Given the description of an element on the screen output the (x, y) to click on. 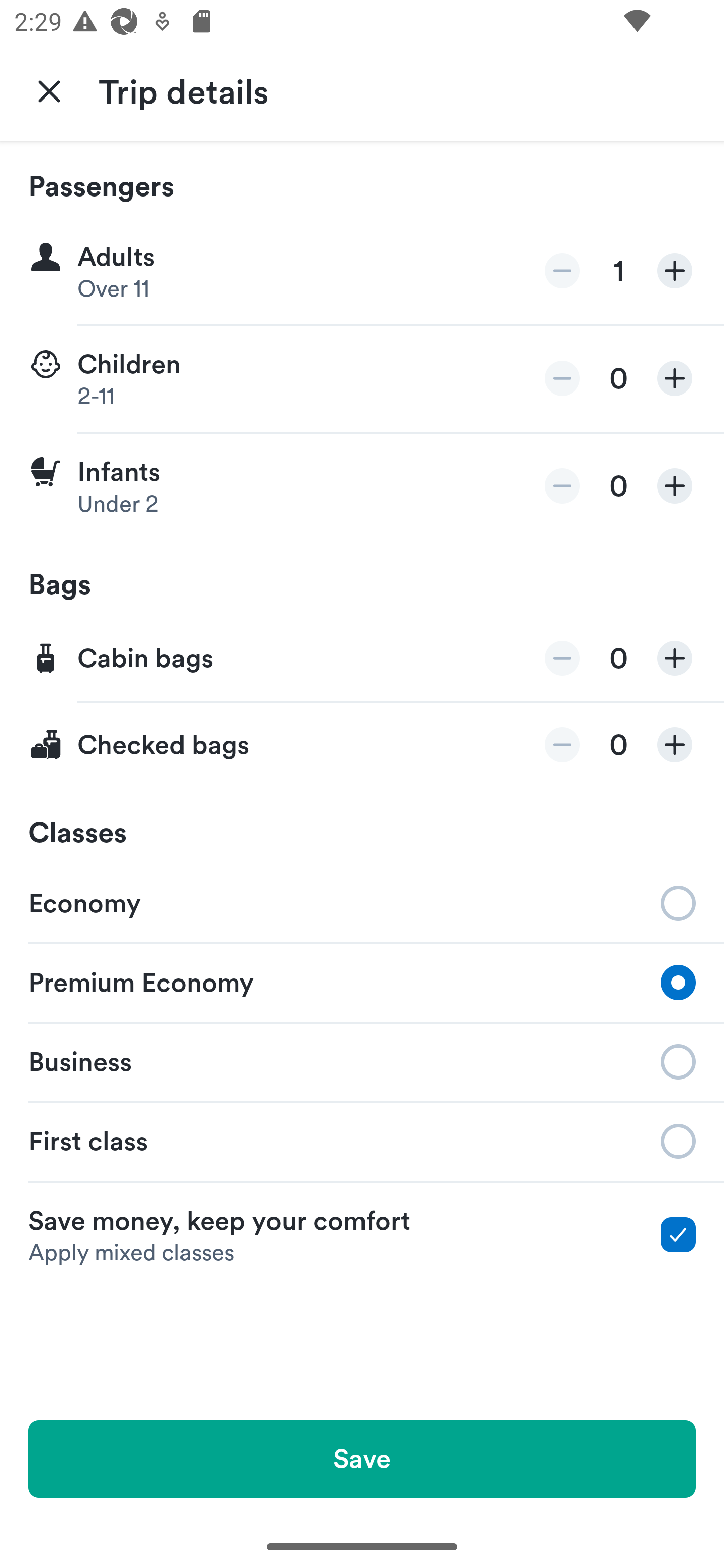
Navigate up (49, 90)
Remove 1 Add Adults Over 11 (362, 271)
Remove (561, 270)
Add (674, 270)
Remove 0 Add Children 2-11 (362, 379)
Remove (561, 377)
Add (674, 377)
Remove 0 Add Infants Under 2 (362, 485)
Remove (561, 485)
Add (674, 485)
Remove 0 Add Cabin bags (362, 659)
Remove (561, 658)
Add (674, 658)
Remove 0 Add Checked bags (362, 744)
Remove (561, 744)
Add (674, 744)
Economy (362, 901)
Business (362, 1060)
First class (362, 1141)
Save (361, 1458)
